Given the description of an element on the screen output the (x, y) to click on. 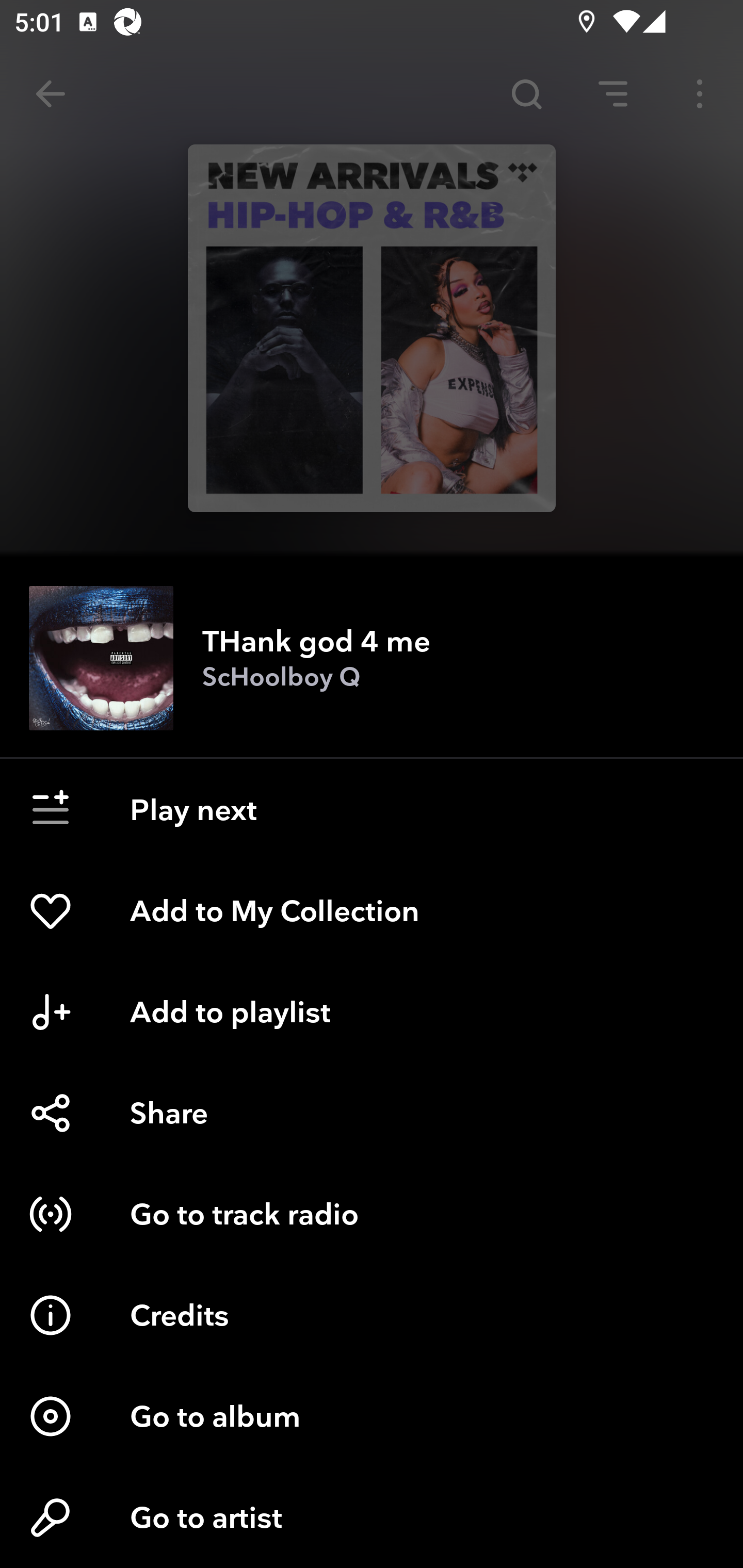
Play next (371, 809)
Add to My Collection (371, 910)
Add to playlist (371, 1012)
Share (371, 1113)
Go to track radio (371, 1214)
Credits (371, 1315)
Go to album (371, 1416)
Go to artist (371, 1517)
